Given the description of an element on the screen output the (x, y) to click on. 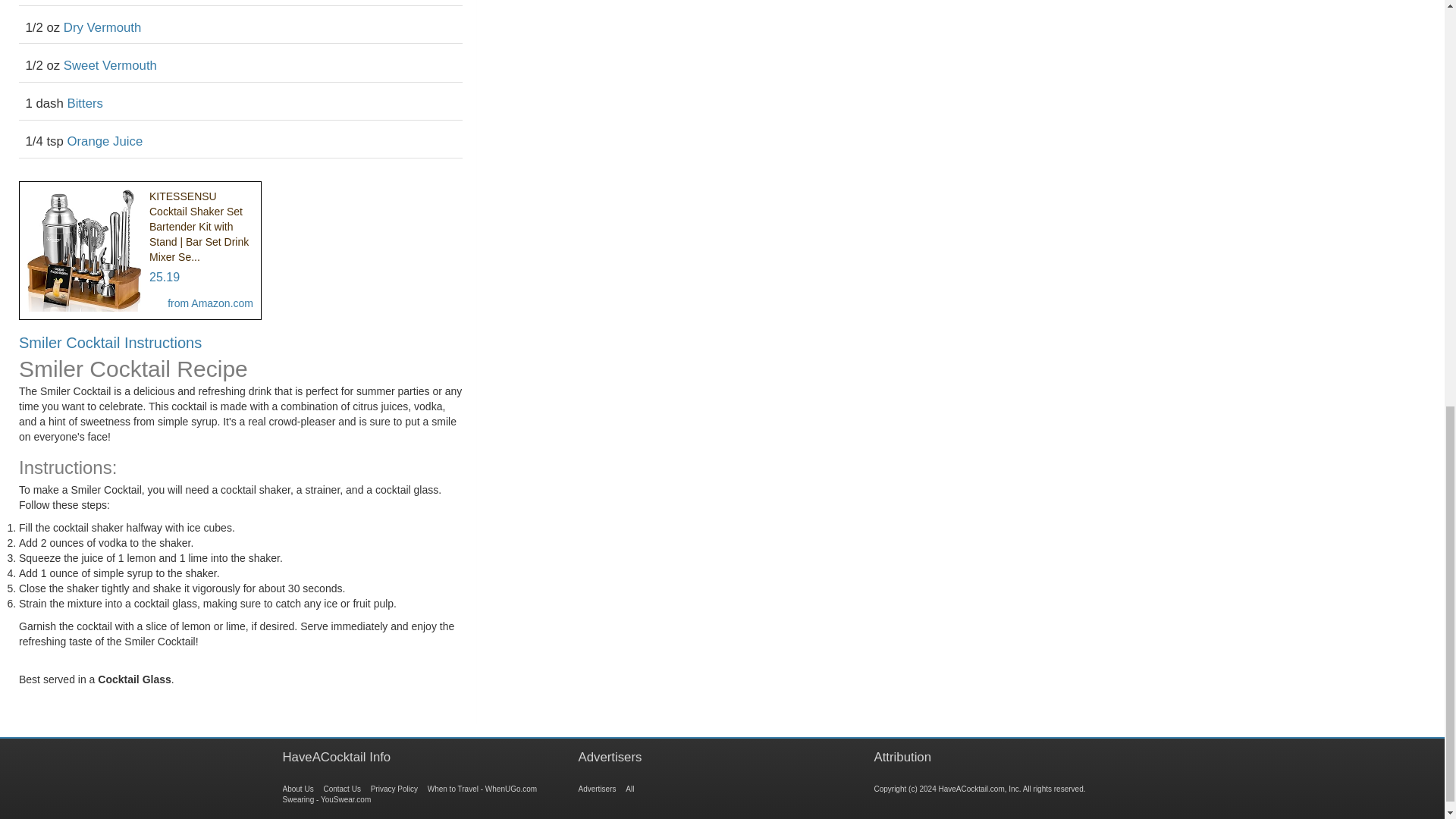
Browse Ingredients (394, 788)
Browse Cocktail Recipes (297, 788)
When to Travel (482, 788)
Advertisers (596, 788)
Swearing (326, 799)
Contact Us (341, 788)
Drinking Games (629, 788)
